Given the description of an element on the screen output the (x, y) to click on. 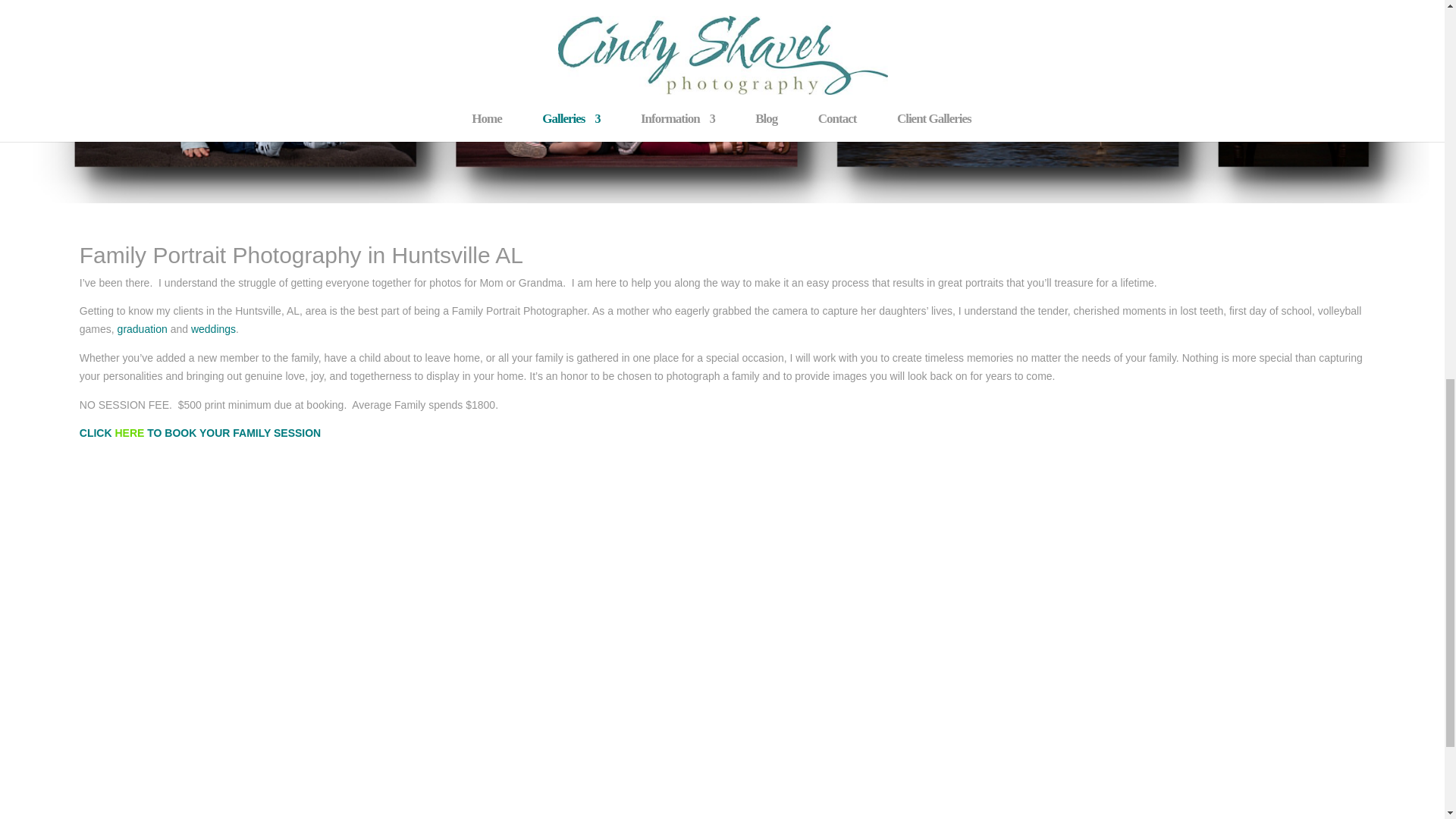
graduation (142, 328)
CLICK HERE TO BOOK YOUR FAMILY SESSION (200, 432)
weddings (212, 328)
